Given the description of an element on the screen output the (x, y) to click on. 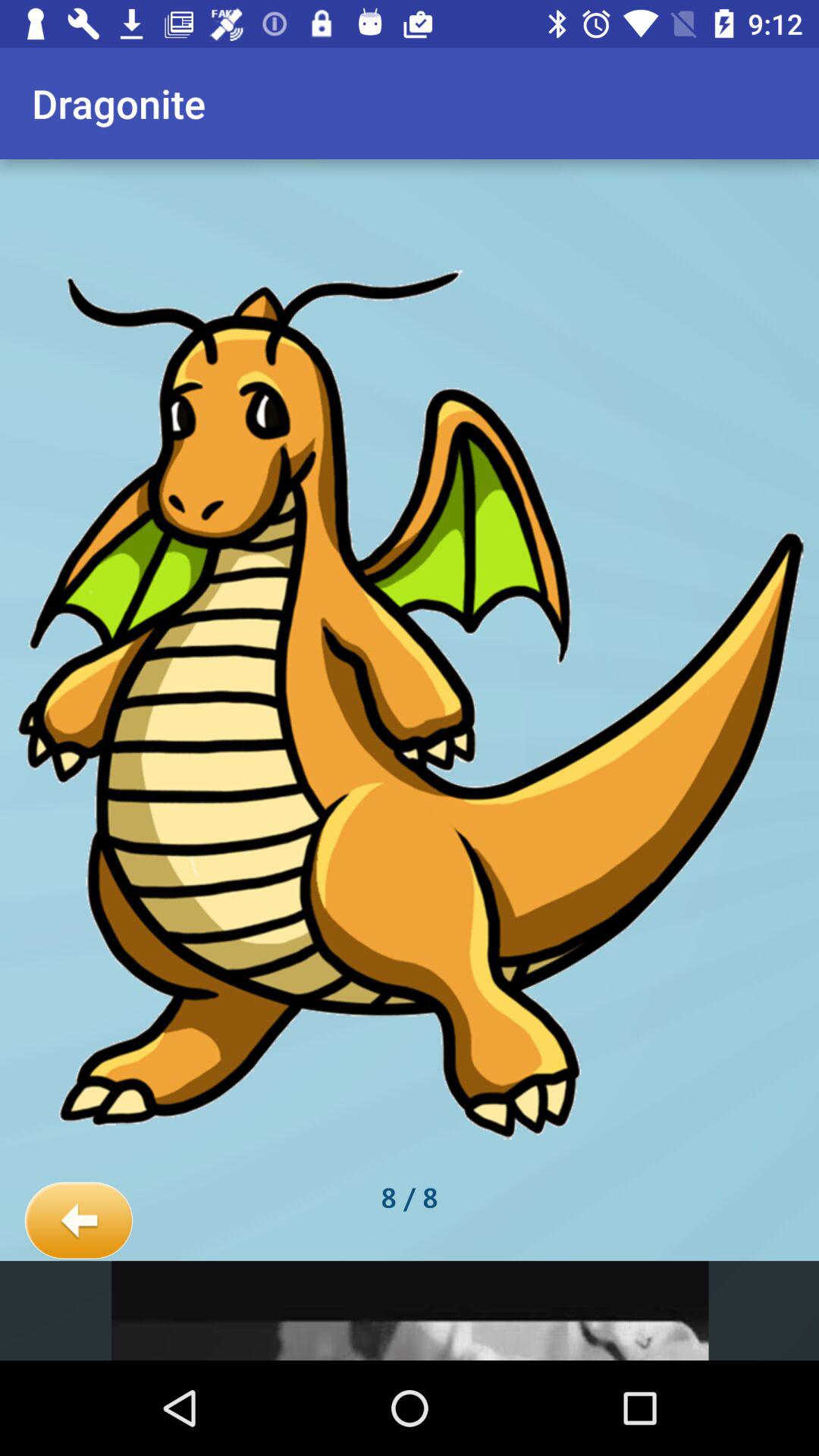
click the icon to the left of 8 / 8 item (78, 1220)
